Given the description of an element on the screen output the (x, y) to click on. 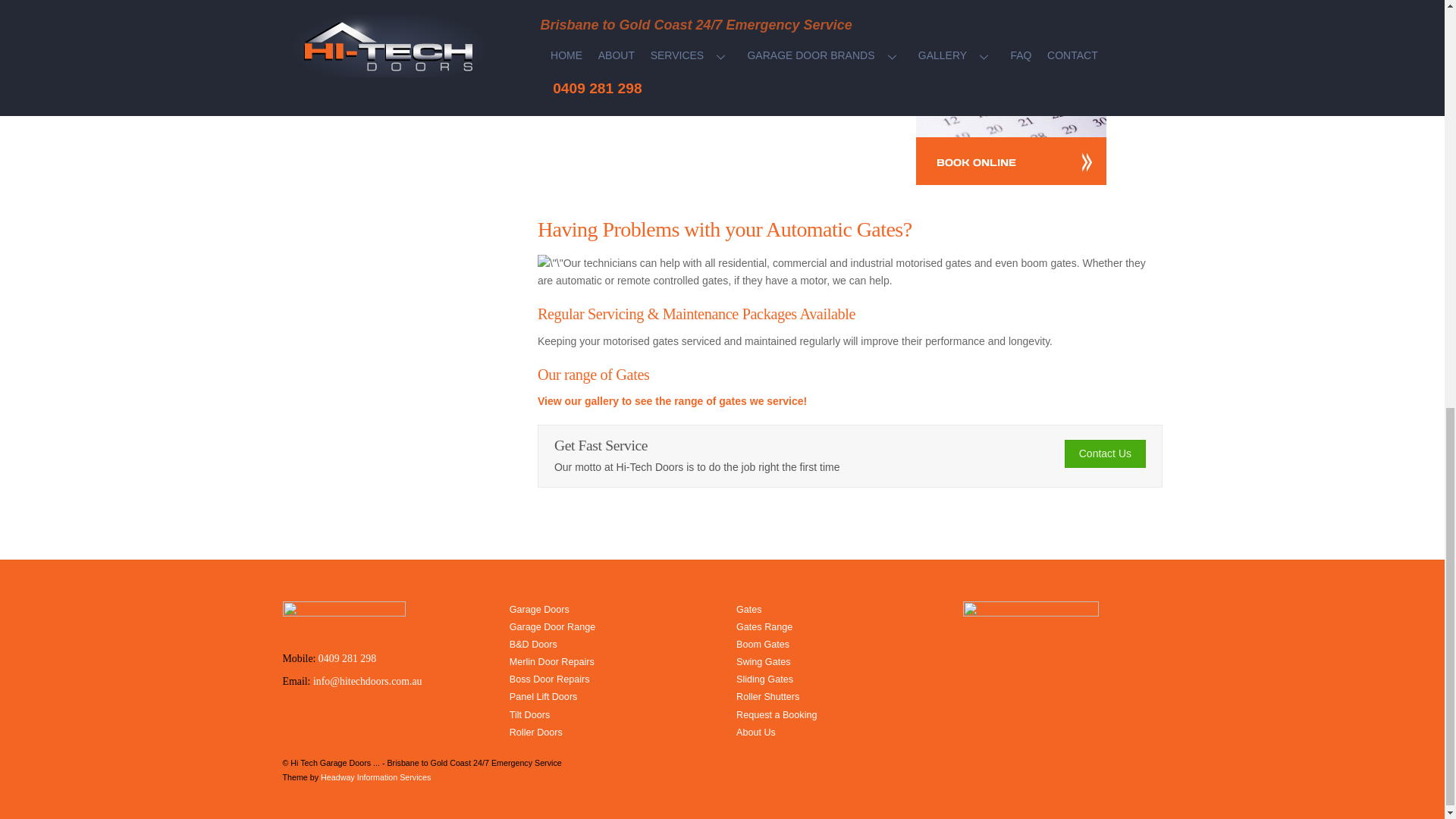
Garage Door Repair in Victoria Point (1010, 92)
